Given the description of an element on the screen output the (x, y) to click on. 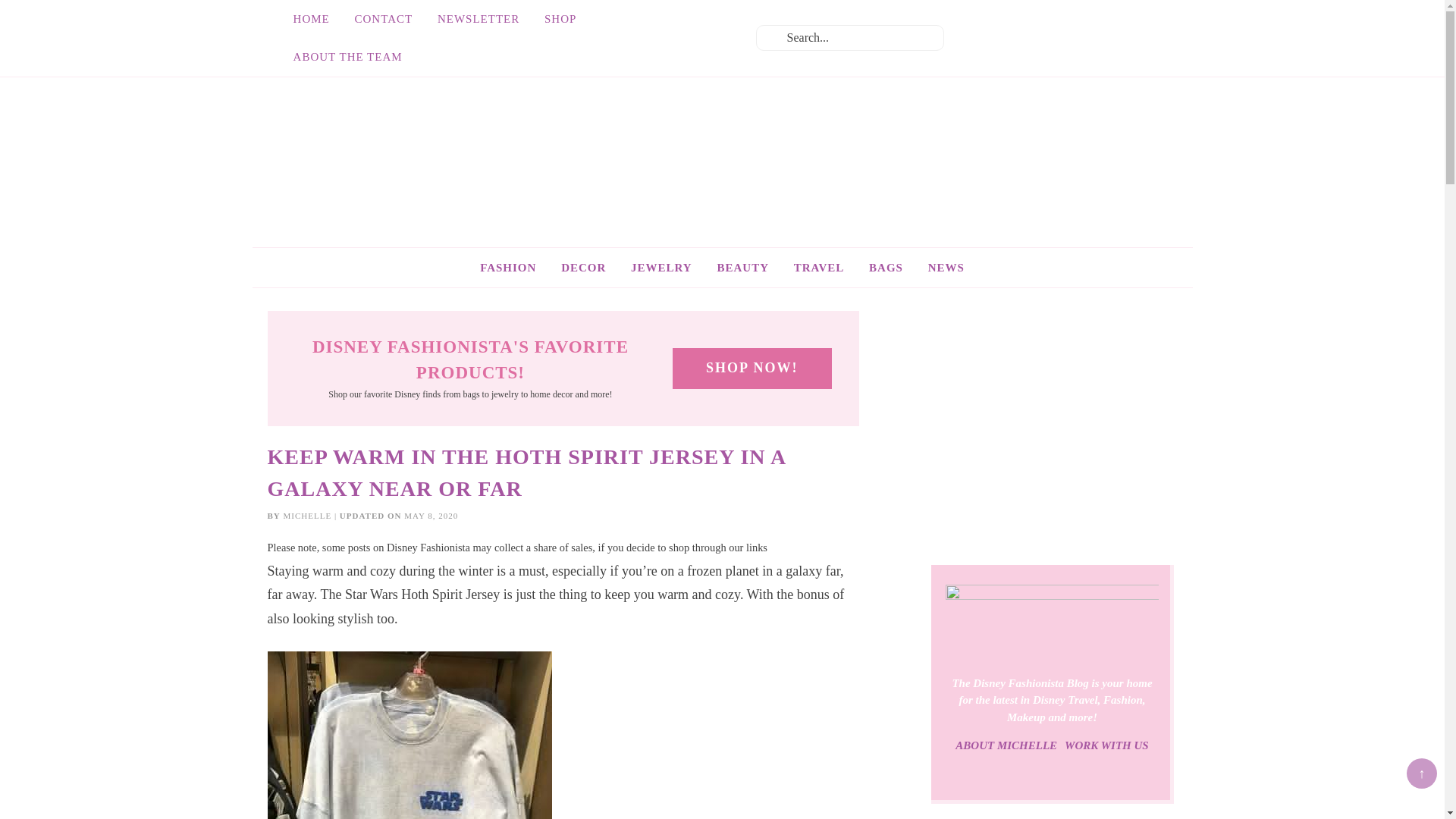
The Latest News! (946, 267)
HOME (311, 18)
Want to go to Disney? (819, 267)
ABOUT THE TEAM (347, 56)
SHOP (560, 18)
NEWSLETTER (477, 18)
CONTACT (383, 18)
